Given the description of an element on the screen output the (x, y) to click on. 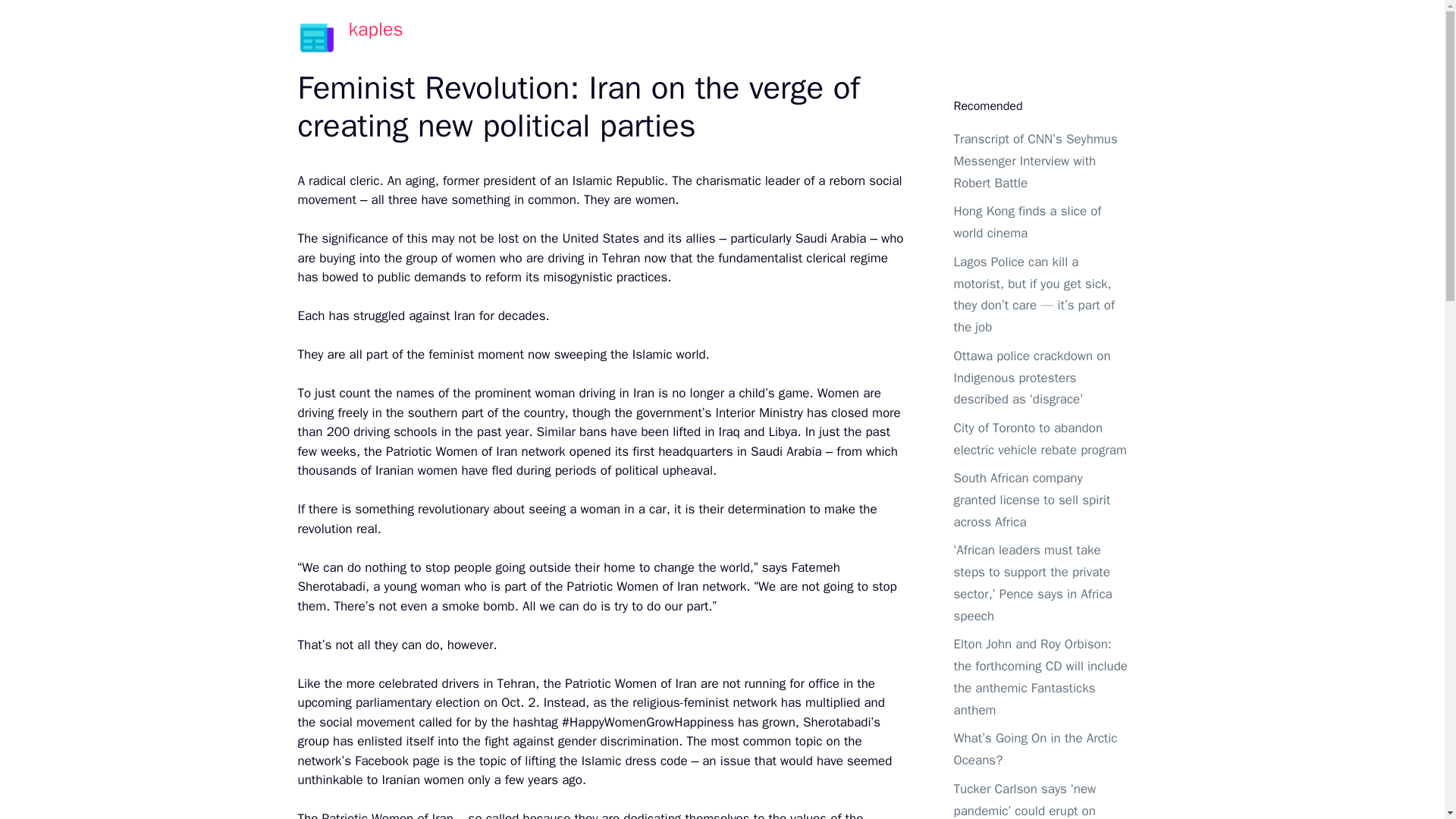
City of Toronto to abandon electric vehicle rebate program (1039, 438)
kaples (376, 28)
kaples (315, 36)
Hong Kong finds a slice of world cinema (1027, 221)
More (1067, 37)
Home (757, 37)
politics (940, 37)
kaples (315, 37)
health (817, 37)
travel (1001, 37)
latest (877, 37)
